Given the description of an element on the screen output the (x, y) to click on. 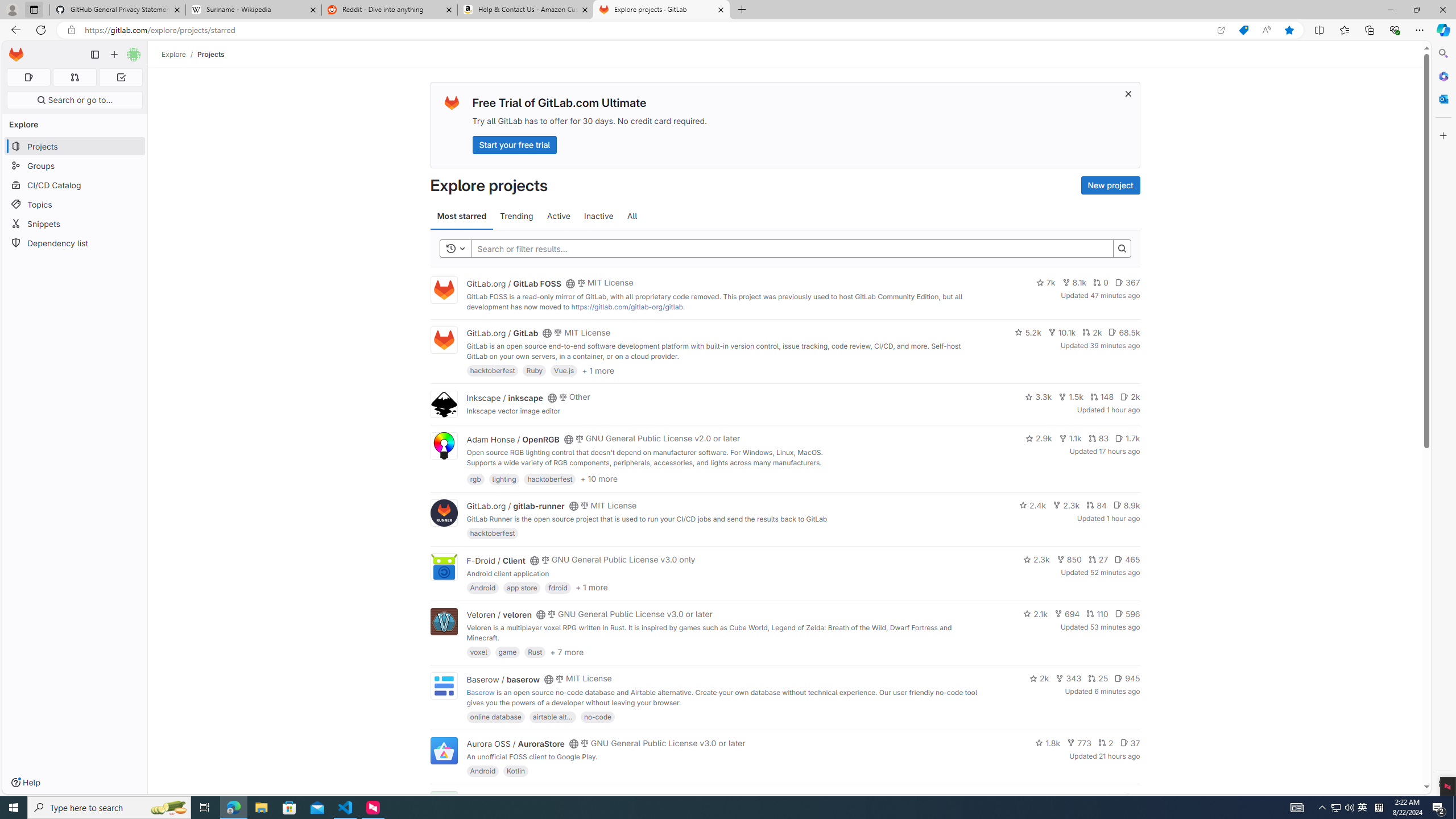
Explore (173, 53)
Edouard Klein / falsisign (512, 797)
Class: s16 gl-icon gl-button-icon  (1127, 93)
84 (1096, 504)
Adam Honse / OpenRGB (512, 438)
GitLab.org / GitLab (501, 333)
GitHub General Privacy Statement - GitHub Docs (117, 9)
Veloren / veloren (498, 614)
Most starred (461, 216)
Create new... (113, 54)
143 (1085, 797)
